Given the description of an element on the screen output the (x, y) to click on. 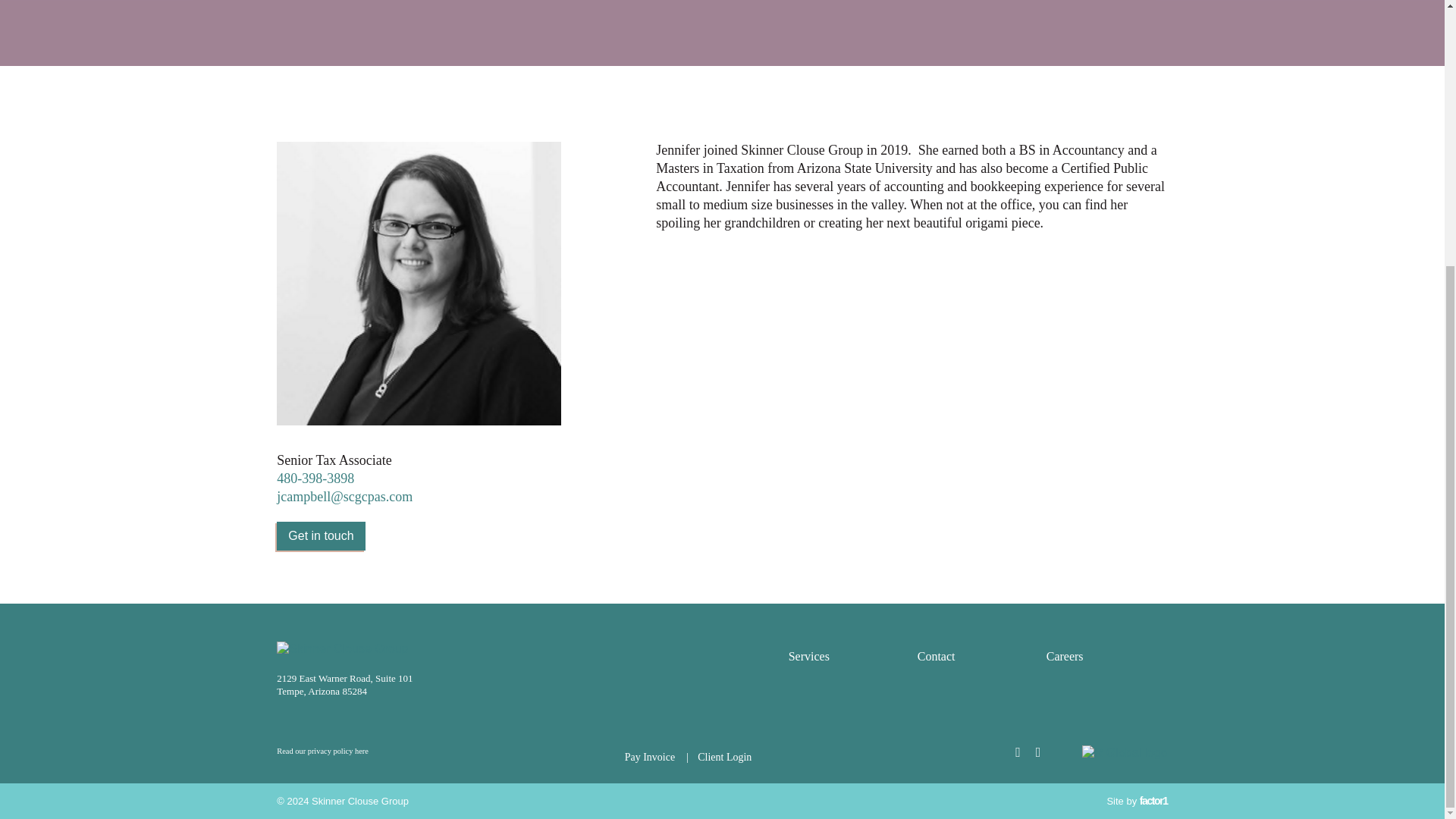
480-398-3898 (314, 478)
IRGlobal (1124, 752)
Get in touch (320, 535)
Get in touch (320, 535)
